Given the description of an element on the screen output the (x, y) to click on. 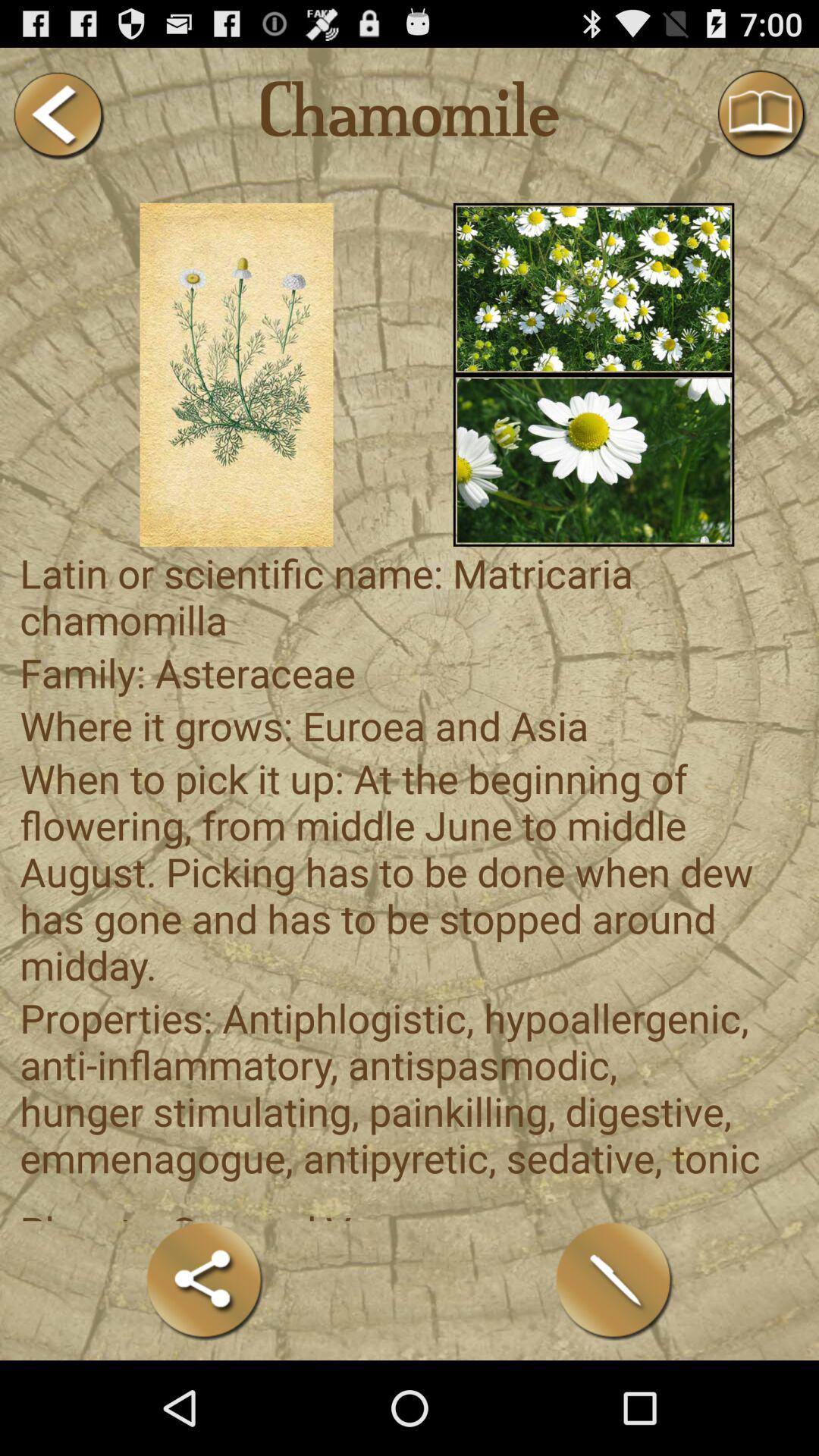
create formulation (614, 1280)
